Given the description of an element on the screen output the (x, y) to click on. 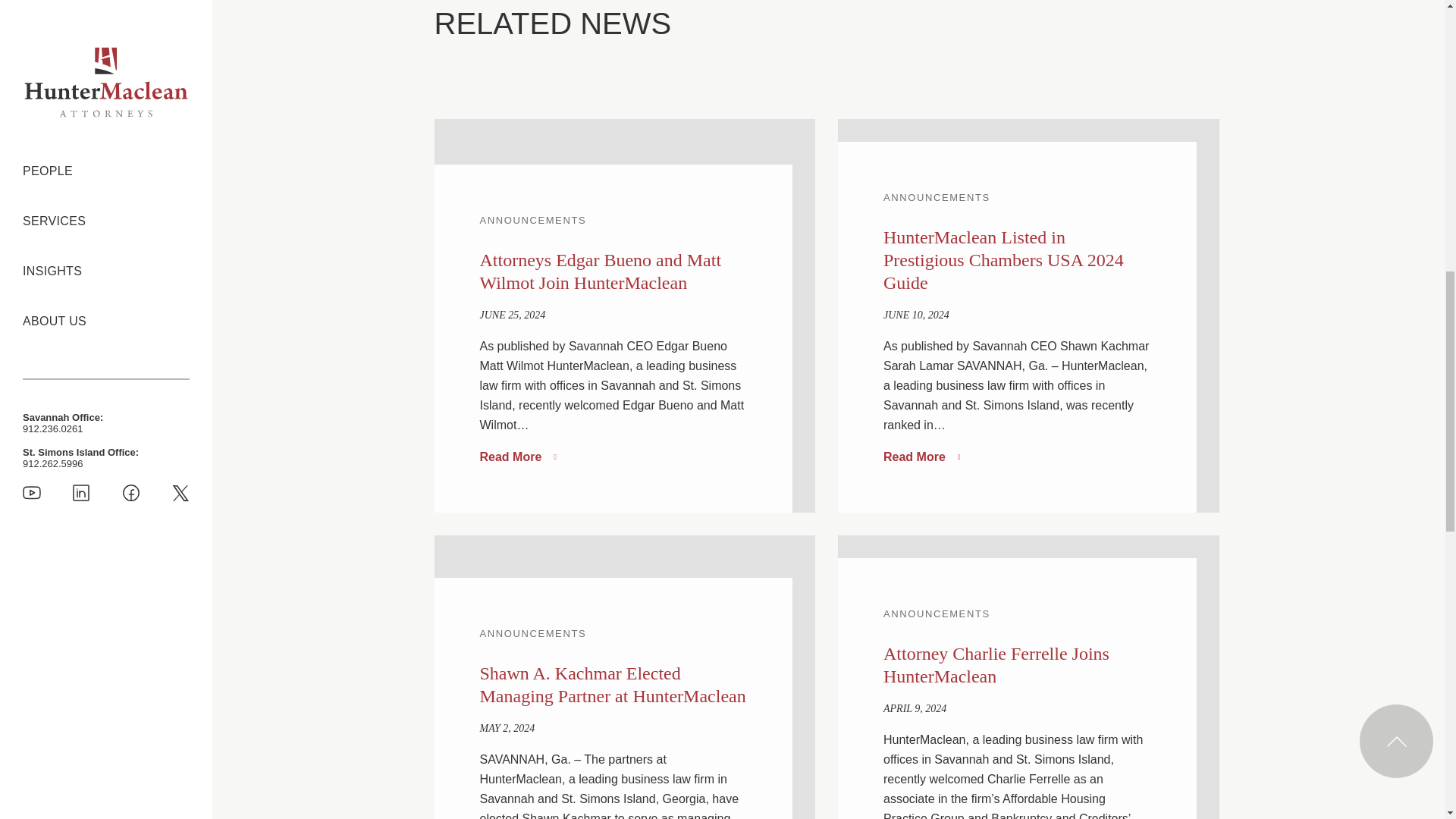
ANNOUNCEMENTS (532, 633)
ANNOUNCEMENTS (532, 220)
Shawn A. Kachmar Elected Managing Partner at HunterMaclean (612, 684)
ANNOUNCEMENTS (936, 197)
HunterMaclean Listed in Prestigious Chambers USA 2024 Guide (1003, 259)
Attorneys Edgar Bueno and Matt Wilmot Join HunterMaclean (599, 271)
Read More (517, 456)
Read More (921, 456)
